Given the description of an element on the screen output the (x, y) to click on. 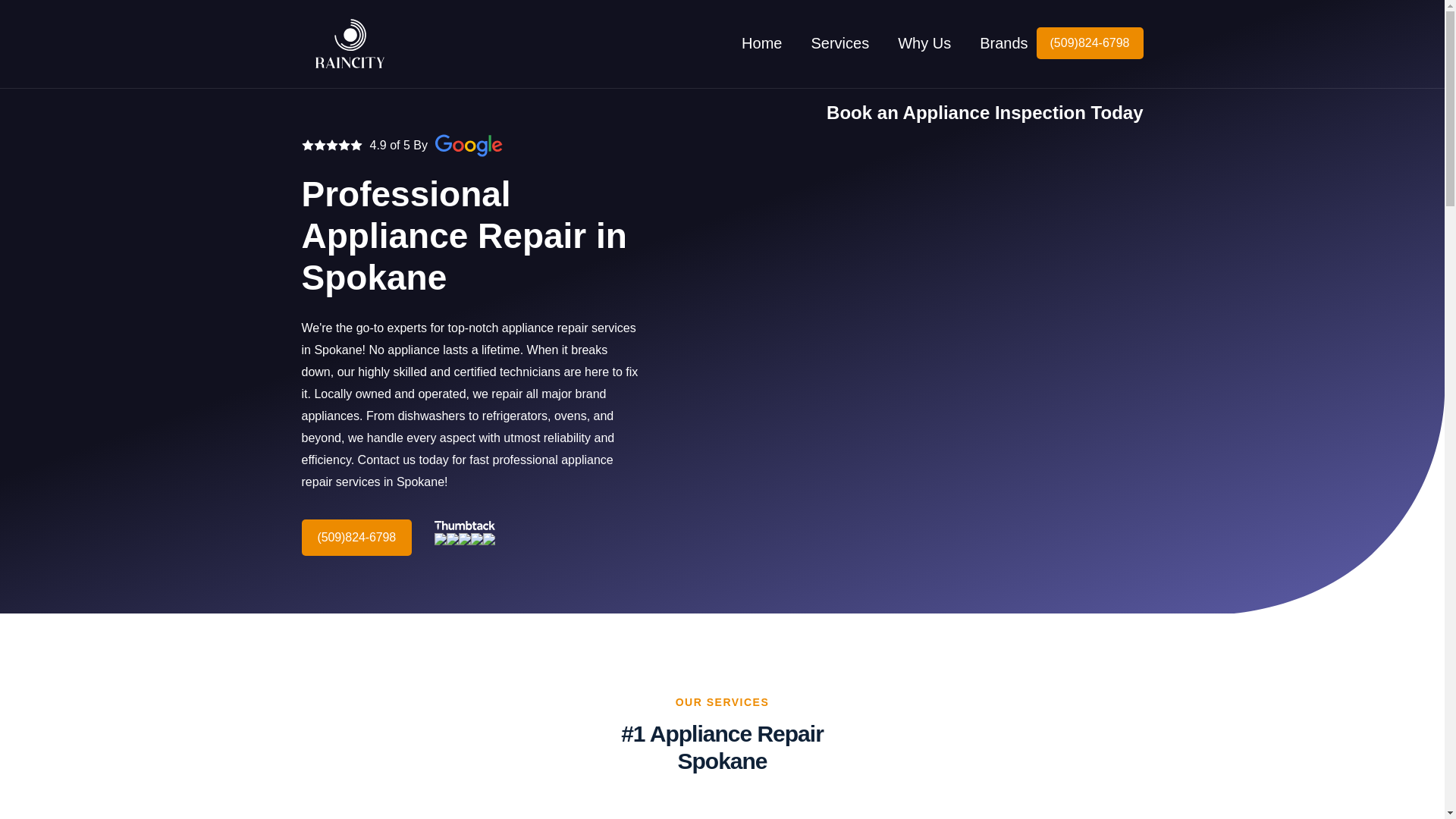
Home (761, 43)
Services (884, 43)
Brands (839, 43)
Why Us (1003, 43)
